Given the description of an element on the screen output the (x, y) to click on. 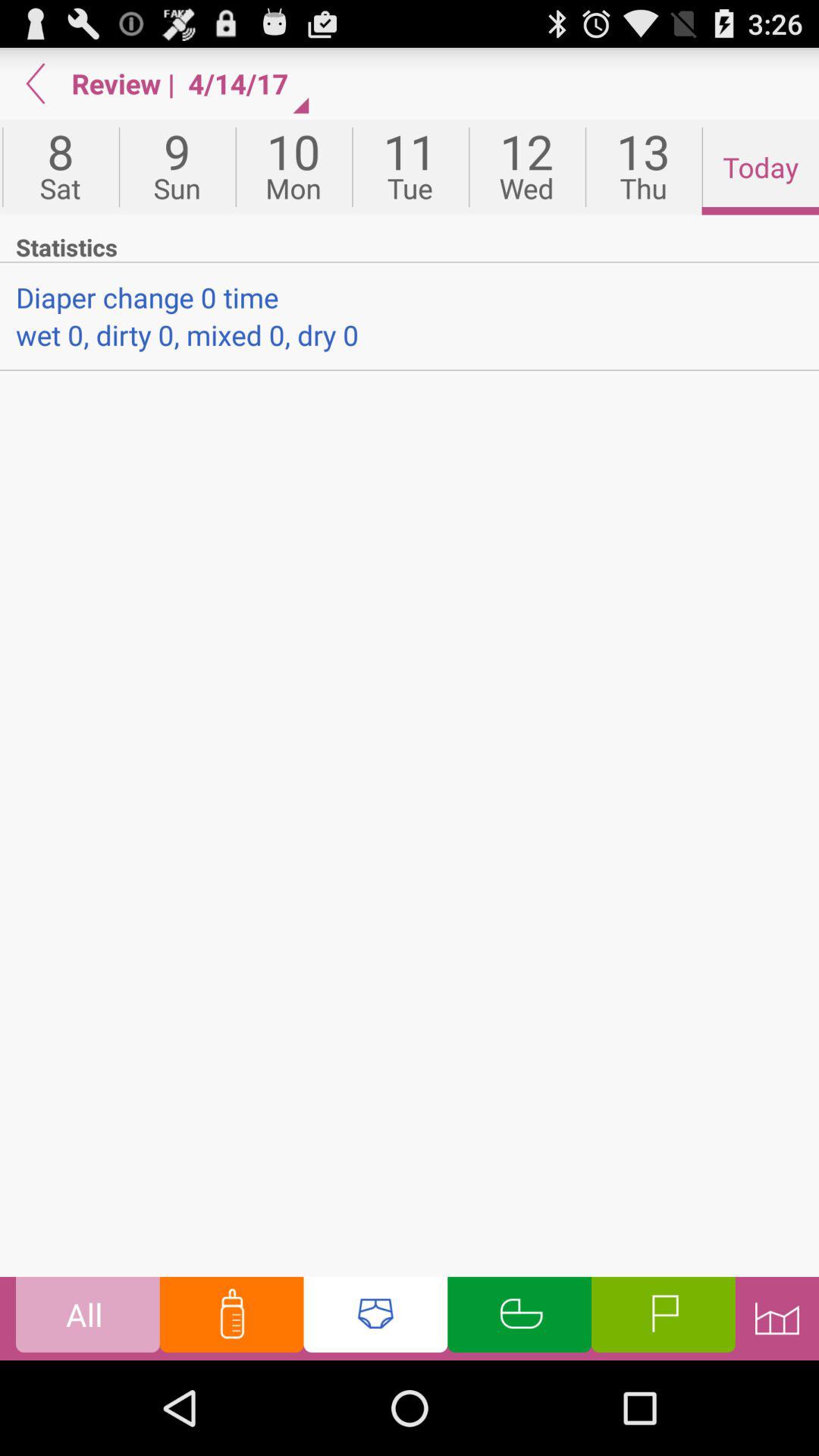
turn off item to the left of review (35, 83)
